Given the description of an element on the screen output the (x, y) to click on. 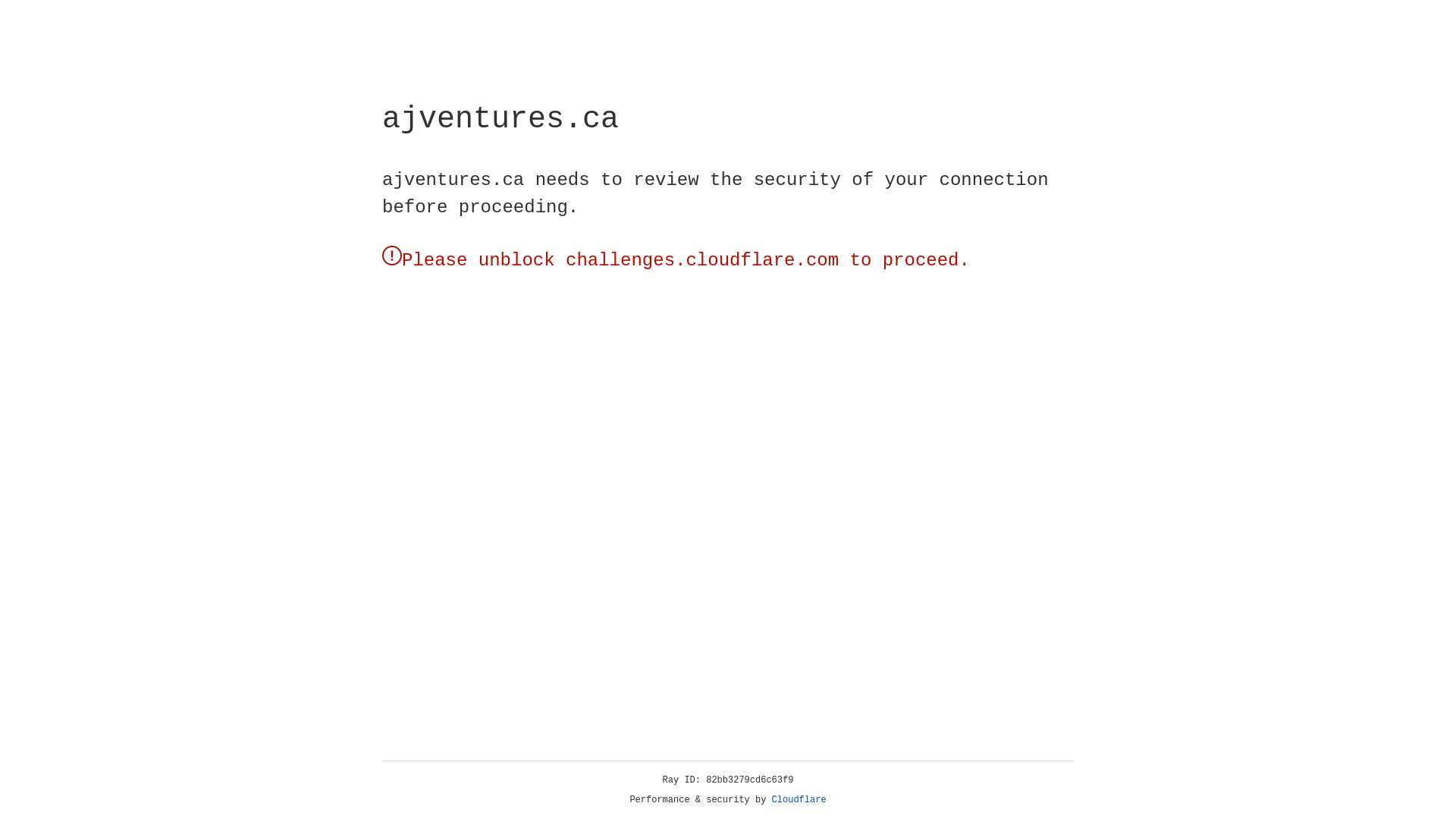
Cloudflare Element type: text (798, 799)
